Given the description of an element on the screen output the (x, y) to click on. 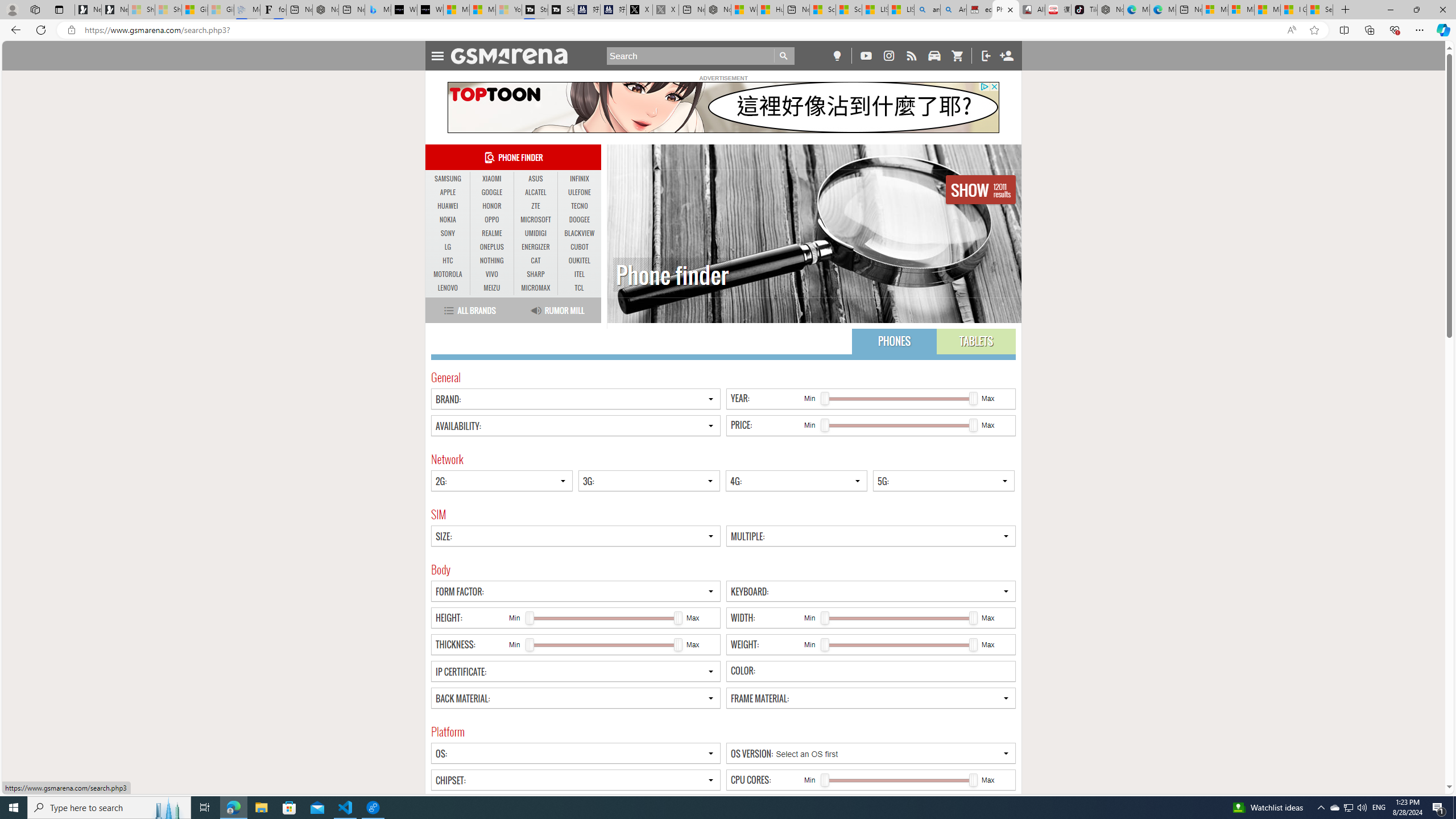
GOOGLE (491, 192)
HONOR (491, 205)
TABLETS (976, 341)
CAT (535, 260)
ULEFONE (579, 192)
